Given the description of an element on the screen output the (x, y) to click on. 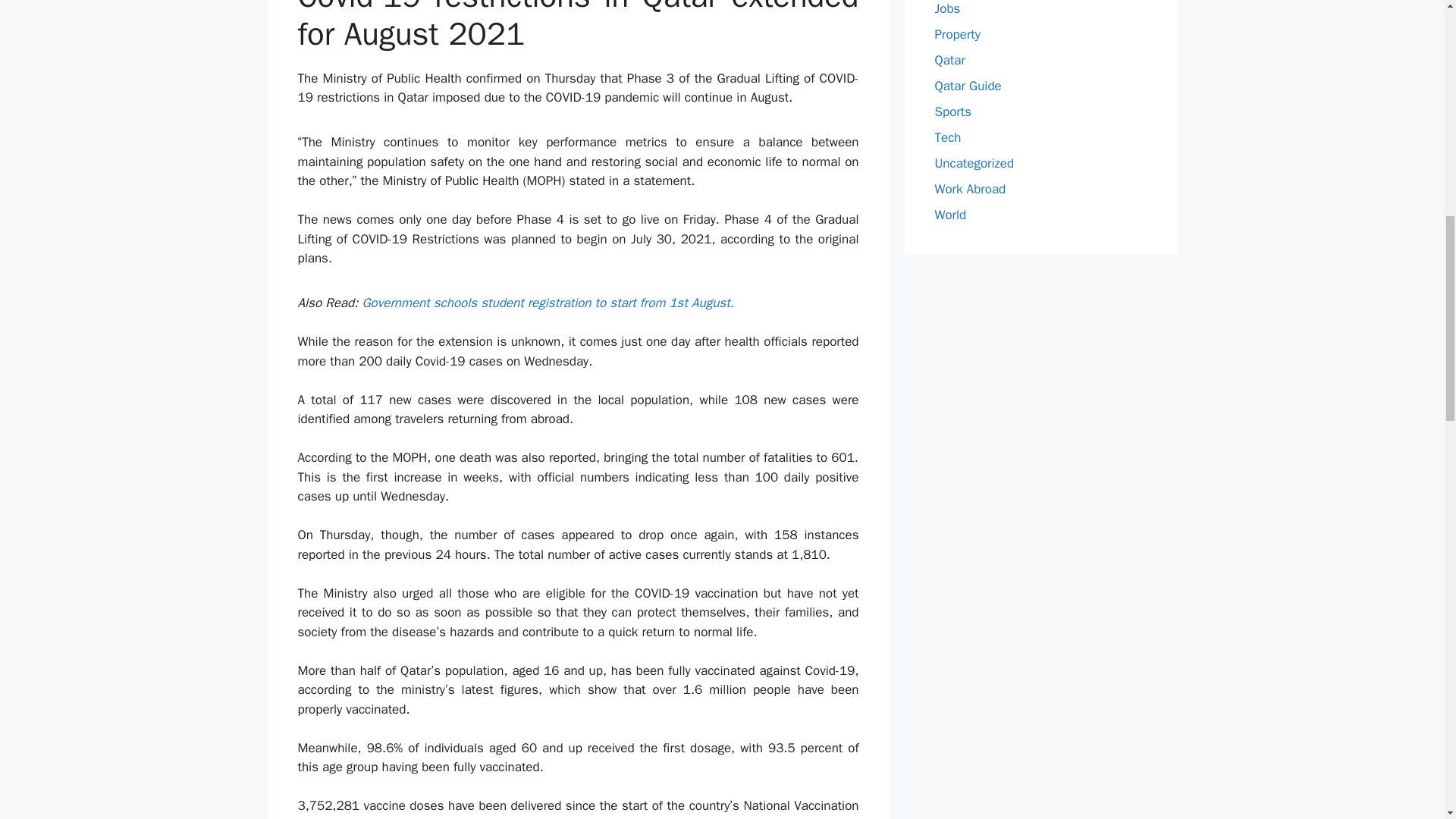
Sports (952, 111)
Qatar Guide (967, 85)
Jobs (946, 8)
Tech (947, 137)
Qatar (948, 59)
Property (956, 34)
Scroll back to top (1406, 720)
